Given the description of an element on the screen output the (x, y) to click on. 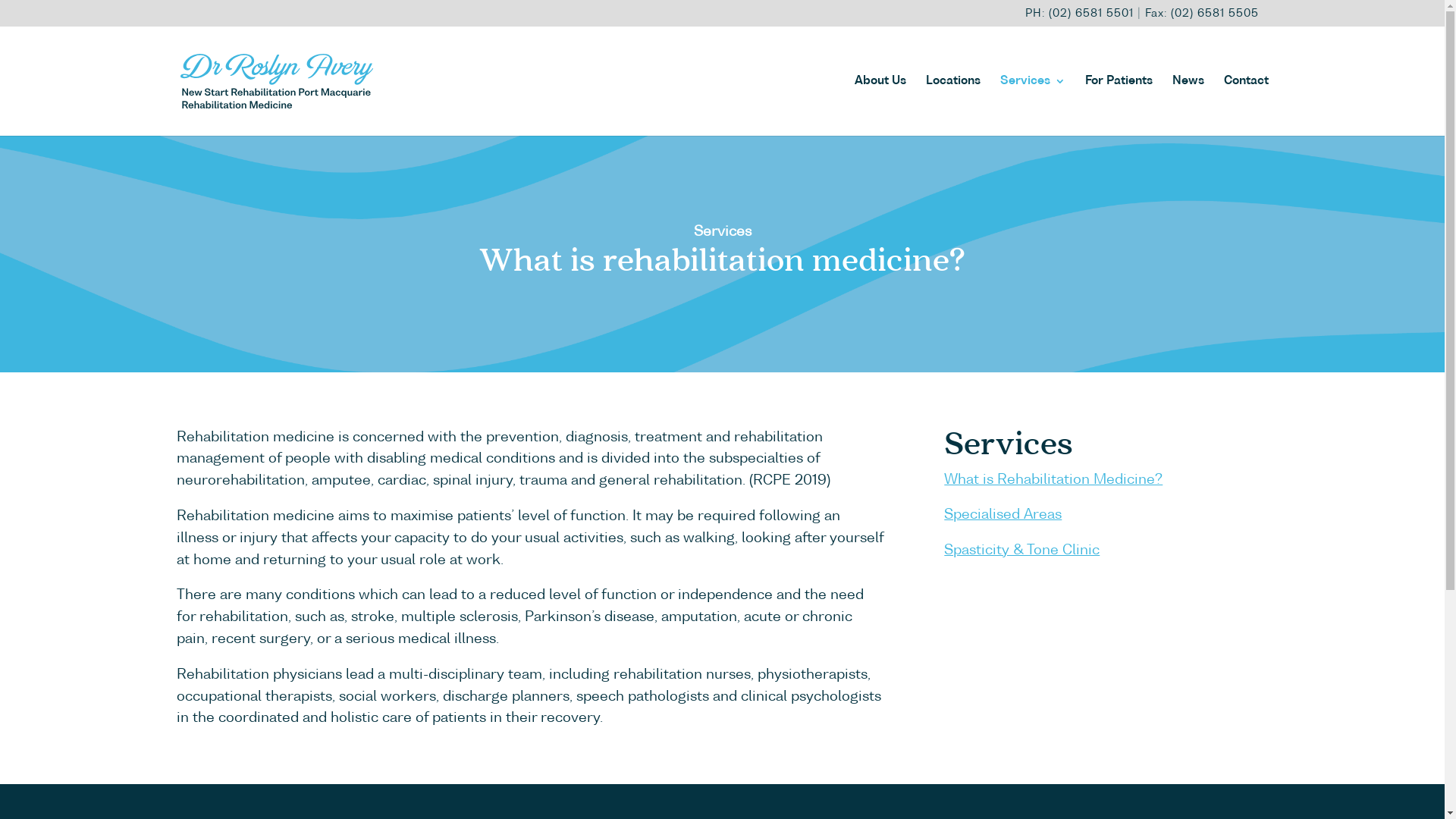
About Us Element type: text (879, 105)
Contact Element type: text (1245, 105)
For Patients Element type: text (1117, 105)
What is Rehabilitation Medicine? Element type: text (1053, 479)
Services Element type: text (1031, 105)
Spasticity & Tone Clinic Element type: text (1021, 550)
News Element type: text (1188, 105)
Locations Element type: text (952, 105)
Specialised Areas Element type: text (1002, 514)
